Given the description of an element on the screen output the (x, y) to click on. 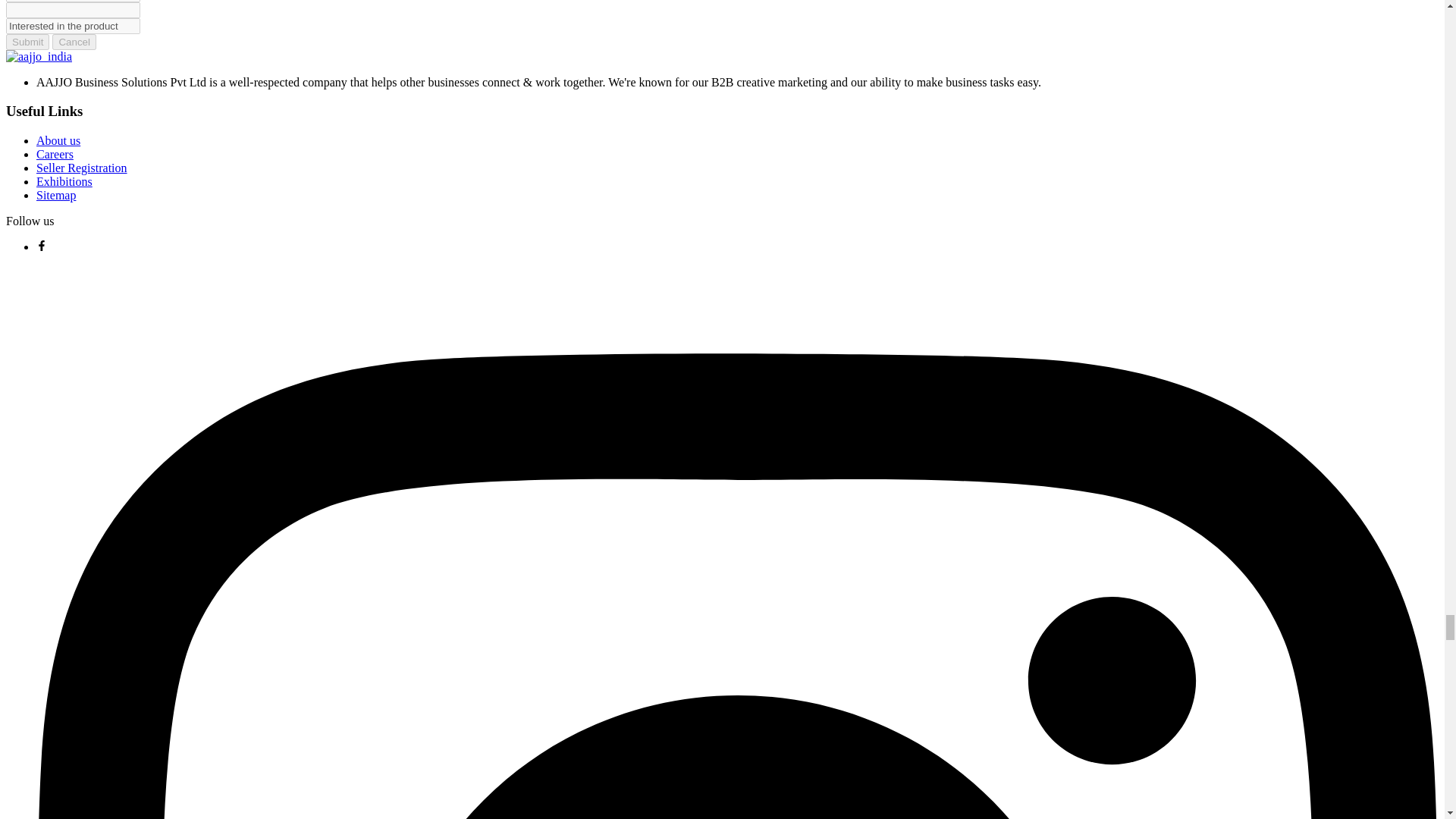
Sitemap (55, 195)
Seller Registration (82, 167)
Interested in the product (72, 26)
Exhibitions (64, 181)
Home (38, 56)
Submit (27, 41)
Careers (55, 154)
Cancel (74, 41)
About us (58, 140)
